Given the description of an element on the screen output the (x, y) to click on. 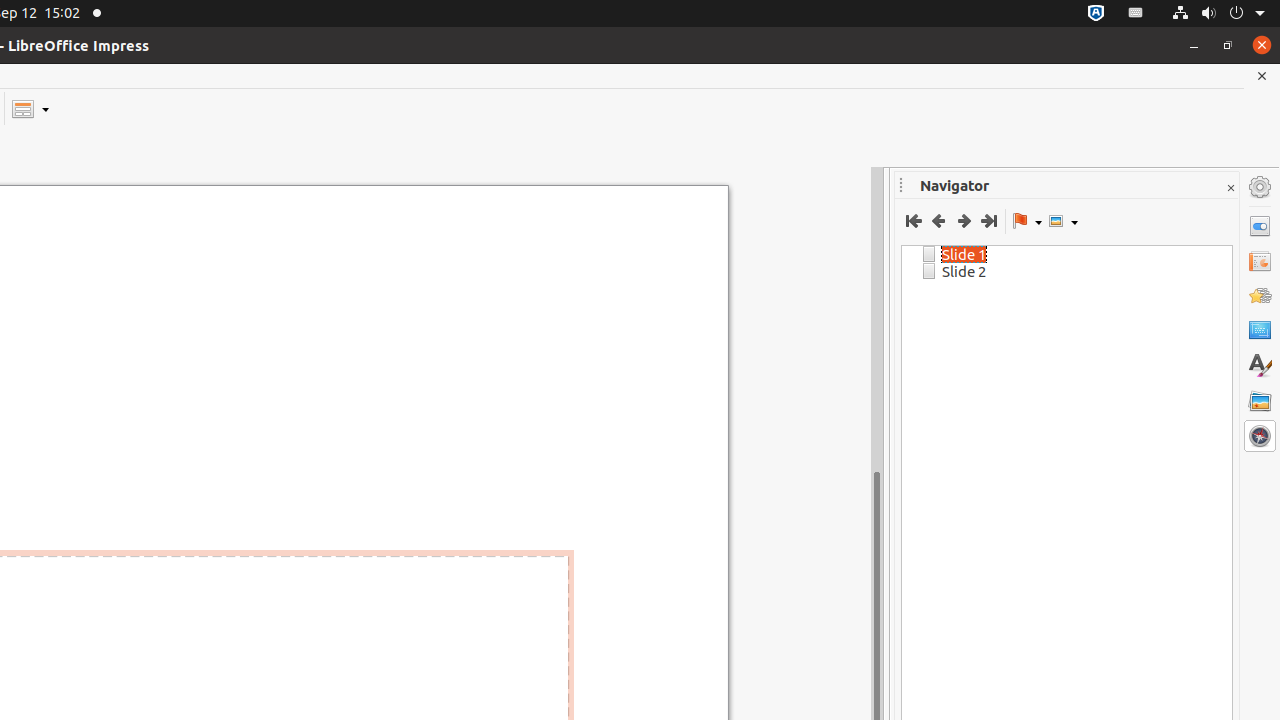
Show Shapes Element type: push-button (1063, 221)
Slide Transition Element type: radio-button (1260, 261)
Next Slide Element type: push-button (963, 221)
Styles Element type: radio-button (1260, 366)
